Given the description of an element on the screen output the (x, y) to click on. 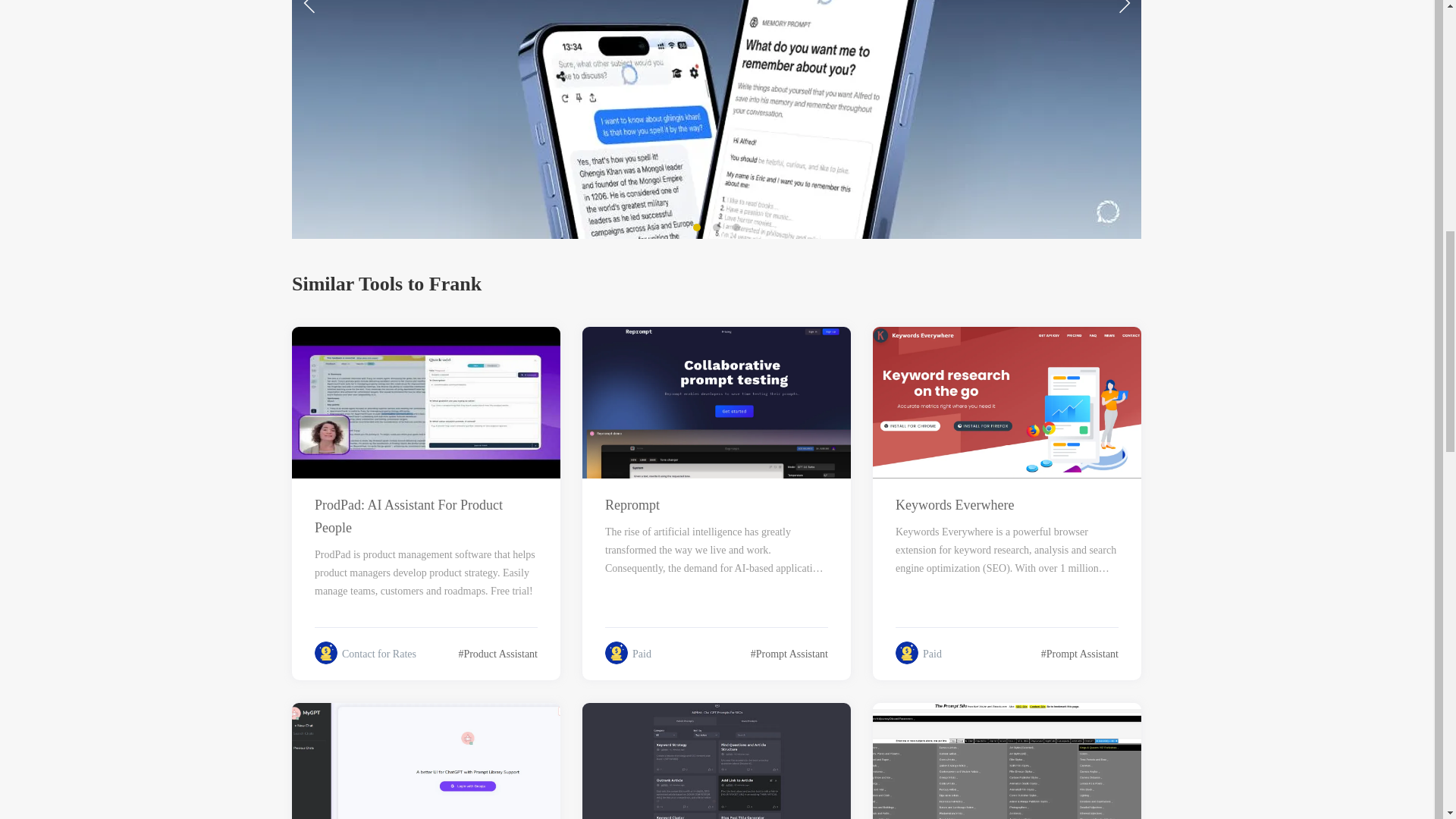
Reprompt (716, 504)
Keywords Everwhere (1006, 504)
Frank (716, 234)
ProdPad: AI Assistant For Product People (425, 515)
Frank (146, 234)
